Given the description of an element on the screen output the (x, y) to click on. 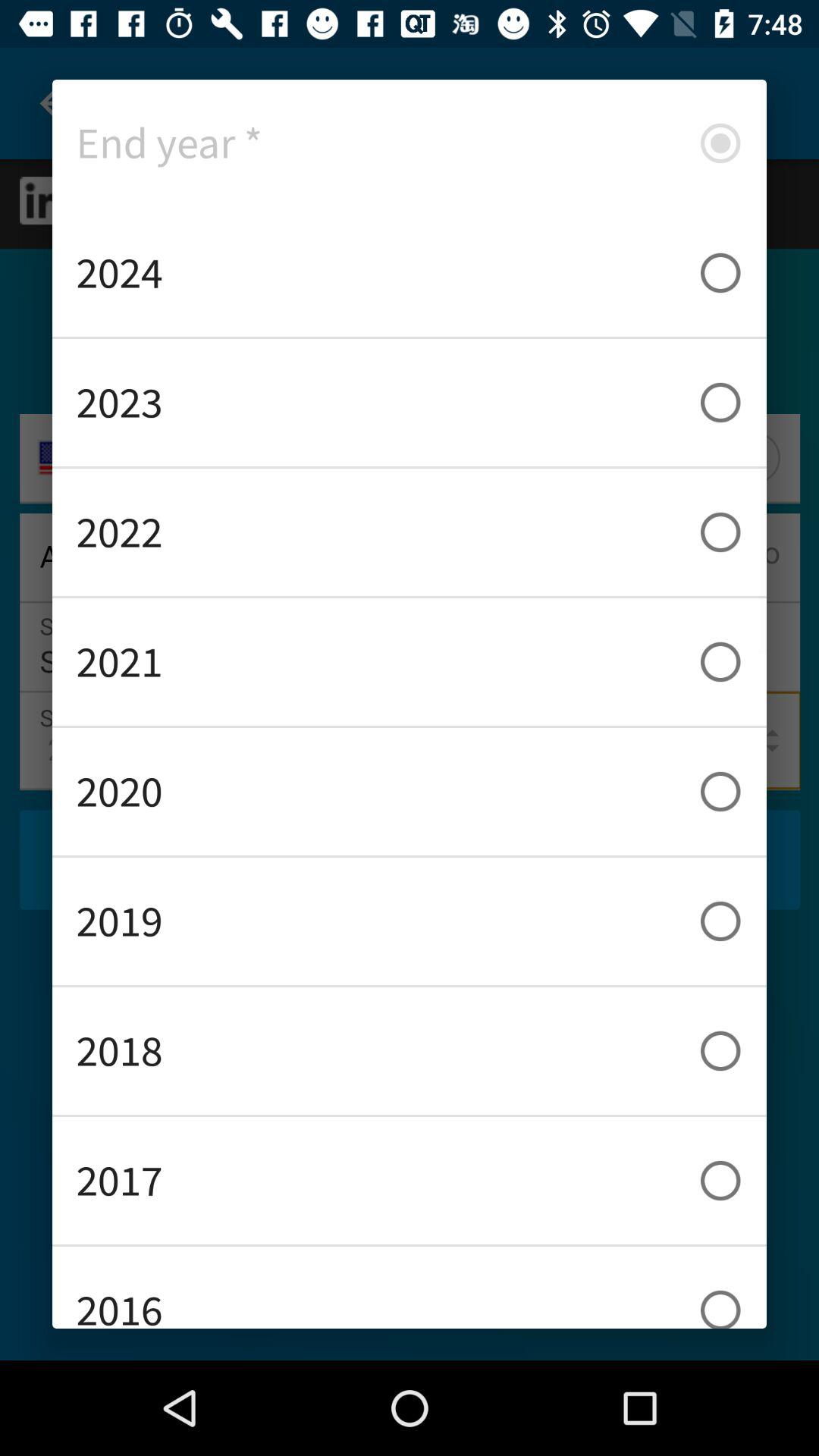
turn off the 2018 item (409, 1050)
